Given the description of an element on the screen output the (x, y) to click on. 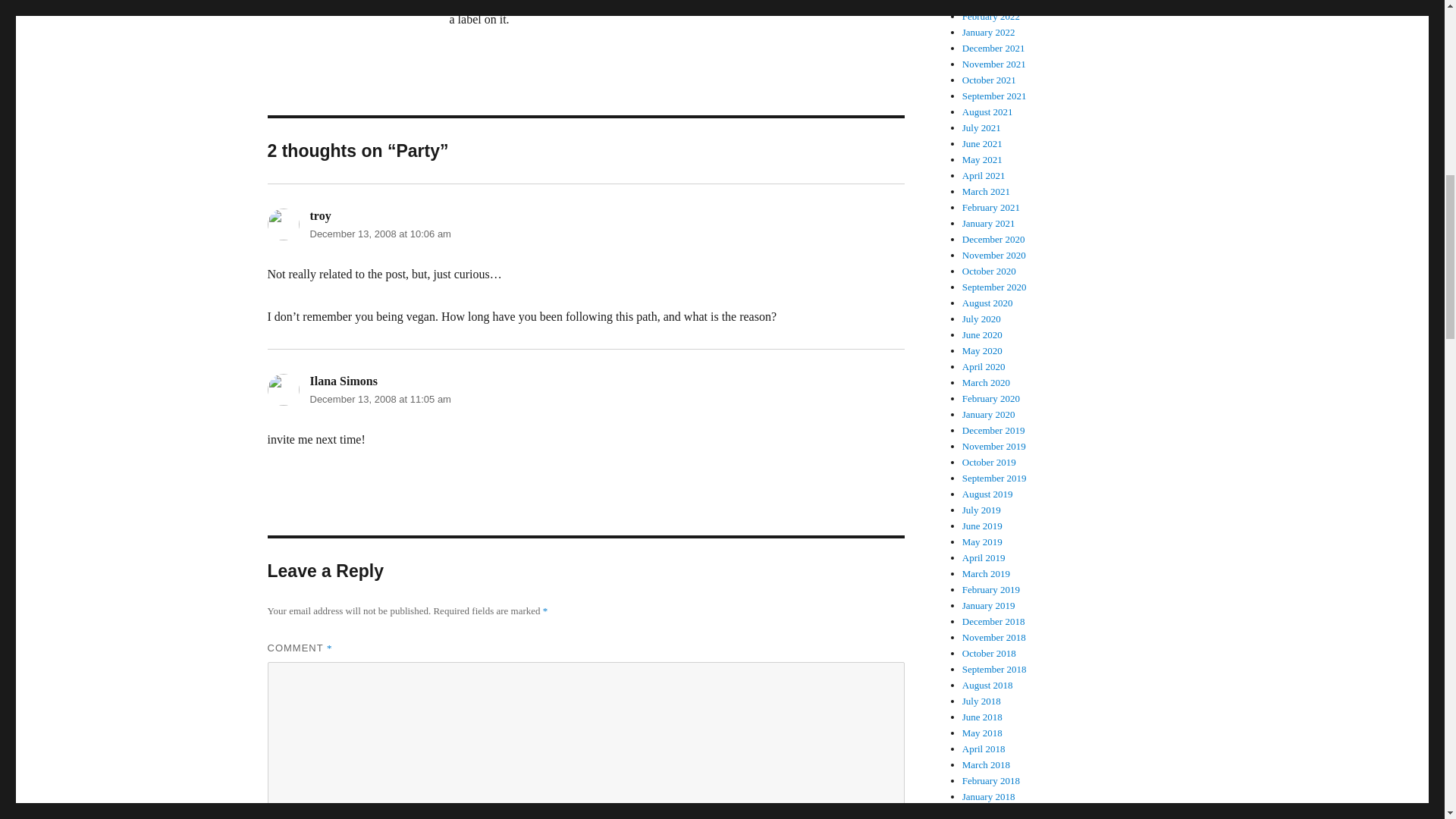
December 13, 2008 at 10:06 am (378, 233)
February 2022 (991, 16)
March 2022 (986, 2)
December 13, 2008 at 11:05 am (378, 398)
